Given the description of an element on the screen output the (x, y) to click on. 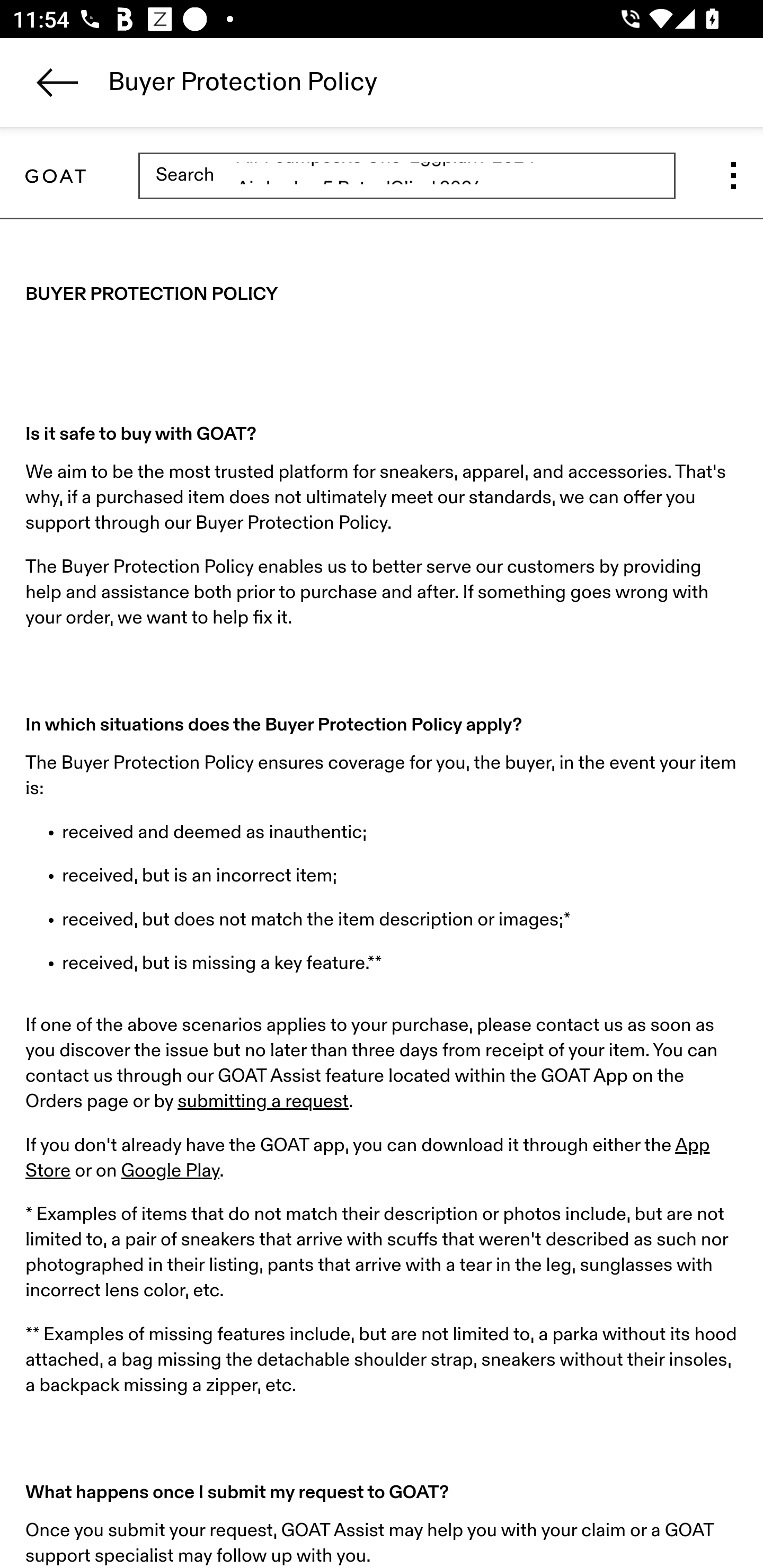
Navigate up (56, 82)
menu (733, 176)
Goat Logo (55, 176)
submitting a request (262, 1101)
App Store (367, 1158)
Google Play (170, 1170)
